Given the description of an element on the screen output the (x, y) to click on. 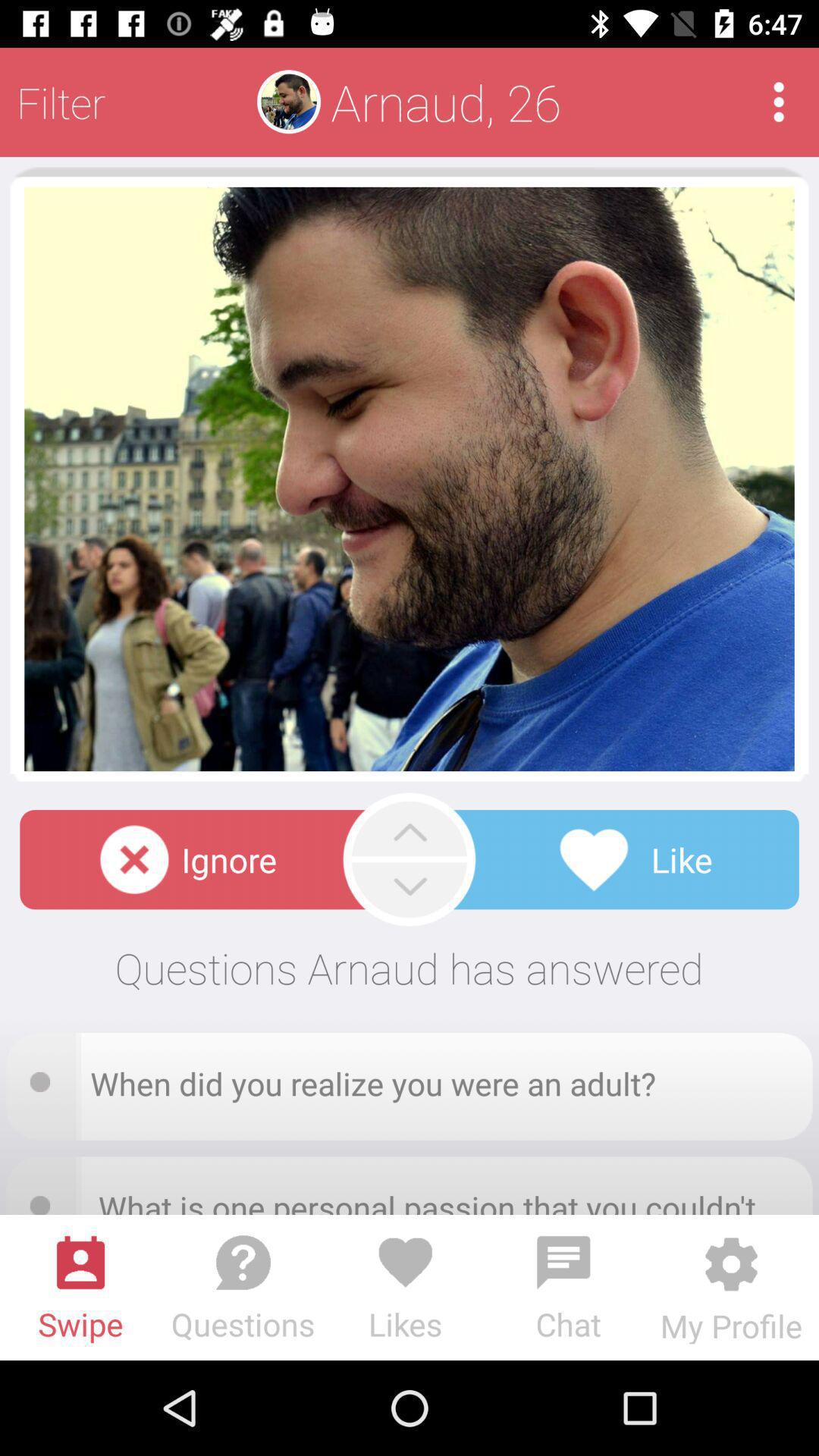
tap app next to the arnaud, 26 icon (778, 101)
